Given the description of an element on the screen output the (x, y) to click on. 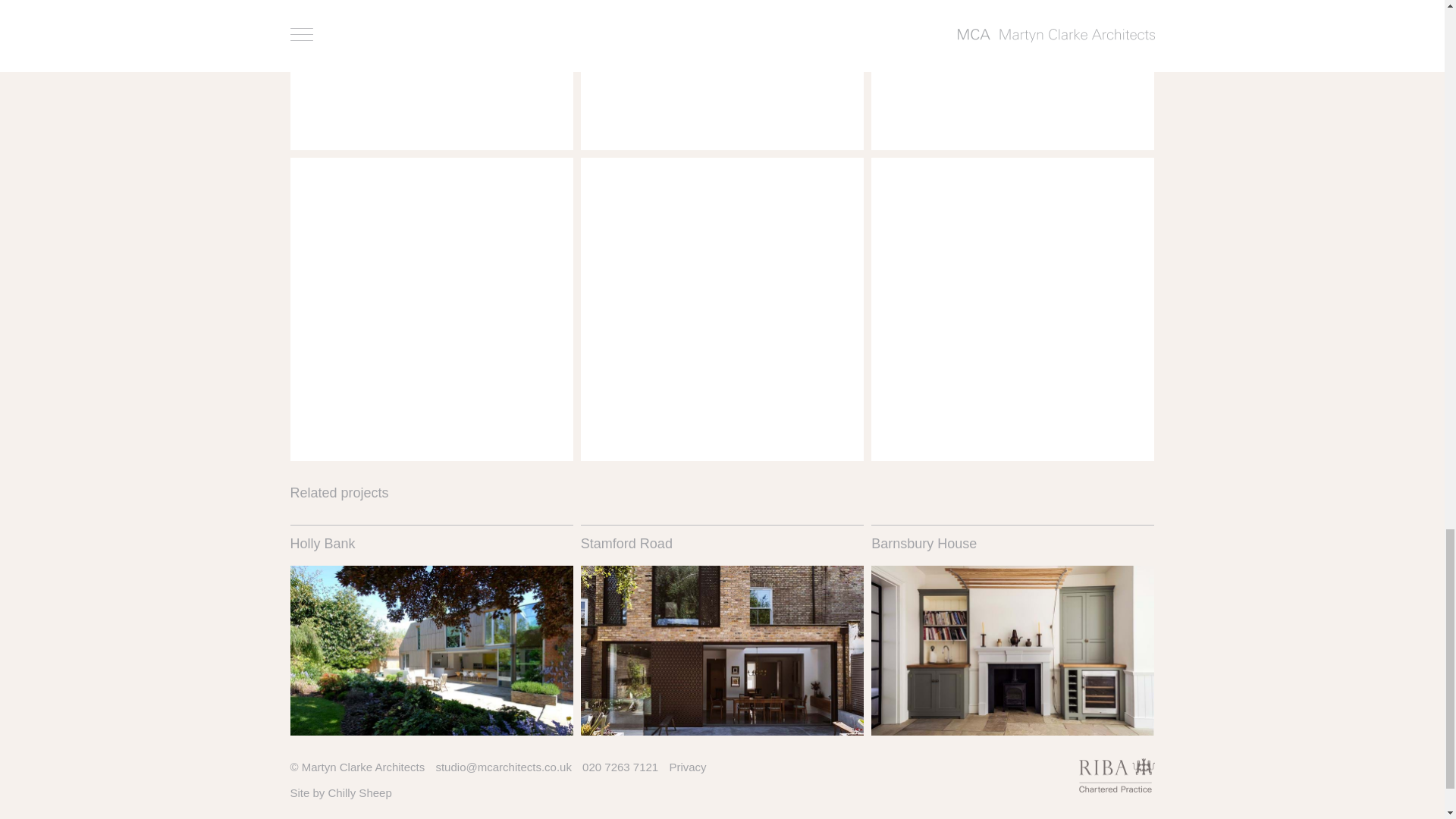
Stamford Road (721, 629)
Chilly Sheep (360, 792)
Privacy (687, 766)
Barnsbury House (1012, 629)
Warwickshire Web Design (360, 792)
Holly Bank (430, 629)
